Given the description of an element on the screen output the (x, y) to click on. 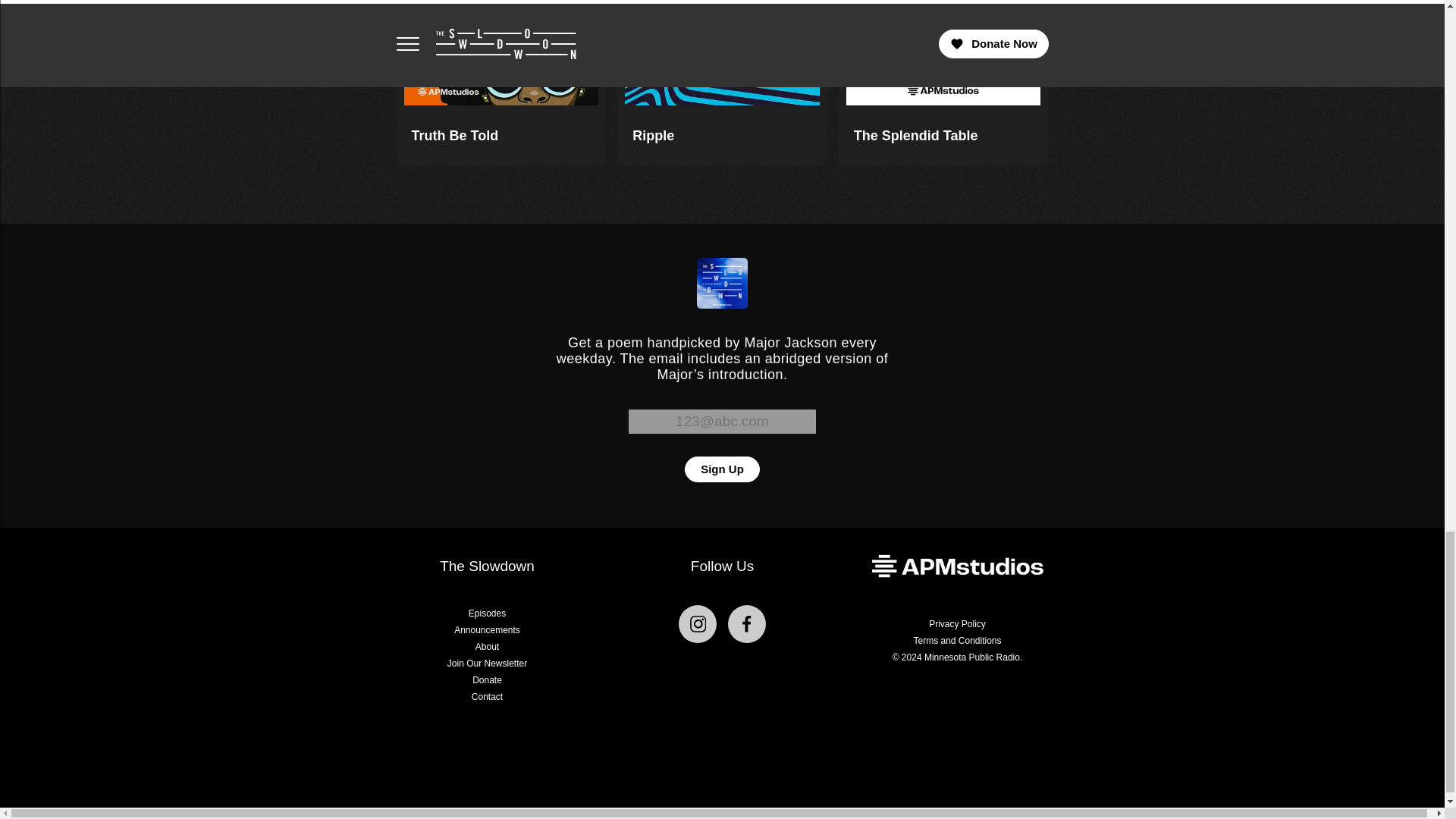
About (487, 646)
Contact (486, 696)
Truth Be Told (500, 82)
Ripple (722, 82)
Announcements (486, 629)
Privacy Policy (956, 624)
The Splendid Table (943, 82)
Join Our Newsletter (486, 663)
Donate (486, 679)
Sign Up (722, 469)
Episodes (486, 613)
Terms and Conditions (956, 640)
